Given the description of an element on the screen output the (x, y) to click on. 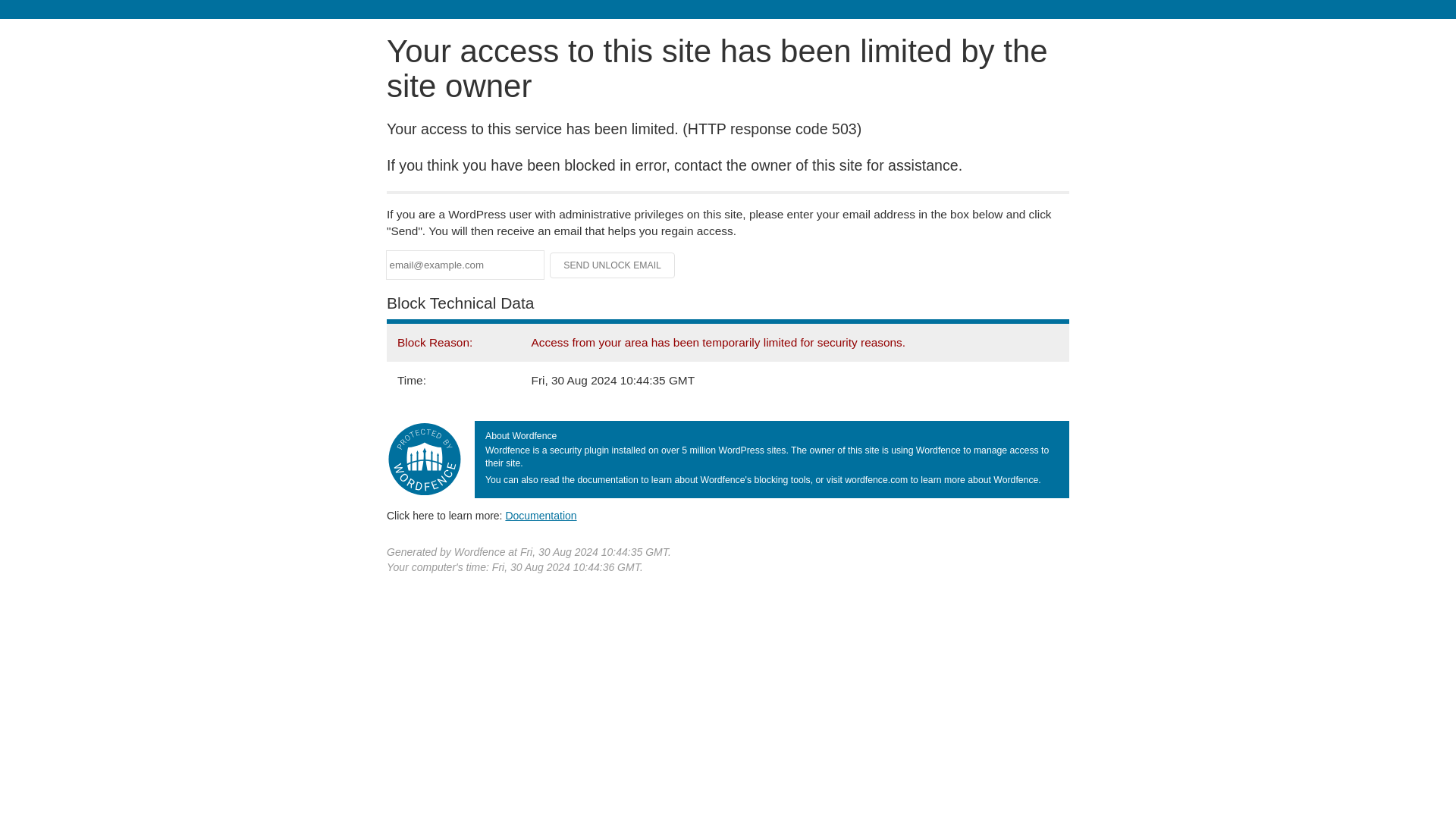
Documentation (540, 515)
Send Unlock Email (612, 265)
Send Unlock Email (612, 265)
